Given the description of an element on the screen output the (x, y) to click on. 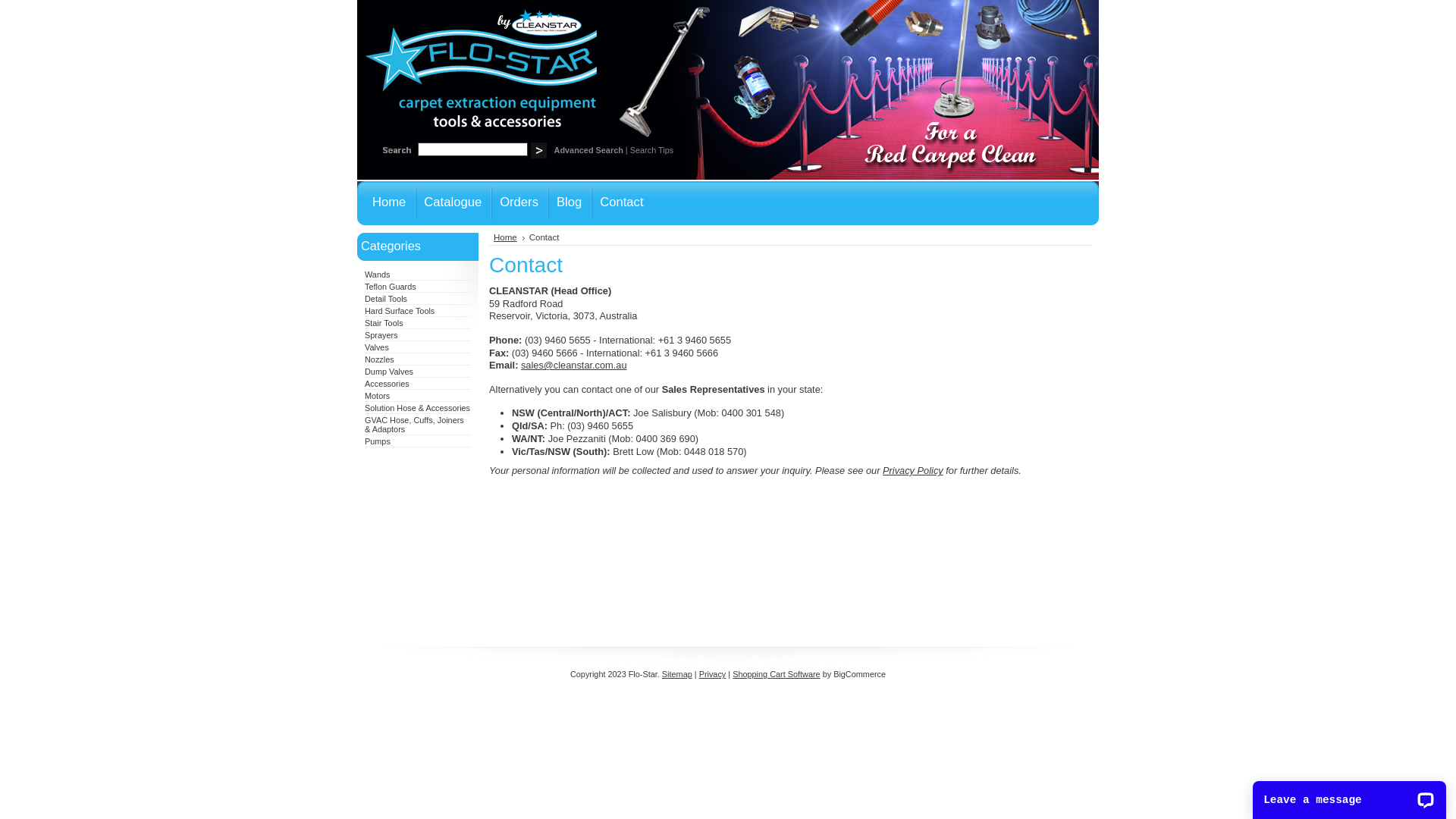
Privacy Policy Element type: text (912, 470)
Privacy Element type: text (712, 673)
Home Element type: text (508, 236)
GVAC Hose, Cuffs, Joiners & Adaptors Element type: text (414, 424)
Solution Hose & Accessories Element type: text (417, 407)
Motors Element type: text (376, 395)
Stair Tools Element type: text (383, 322)
Accessories Element type: text (386, 383)
Catalogue Element type: text (452, 203)
Blog Element type: text (568, 203)
Search Tips Element type: text (651, 149)
Advanced Search Element type: text (588, 149)
Detail Tools Element type: text (385, 298)
sales@cleanstar.com.au Element type: text (573, 364)
Sitemap Element type: text (677, 673)
Shopping Cart Software Element type: text (775, 673)
Valves Element type: text (376, 346)
Dump Valves Element type: text (388, 371)
Sprayers Element type: text (381, 334)
Home Element type: text (385, 203)
Pumps Element type: text (377, 440)
Orders Element type: text (518, 203)
Nozzles Element type: text (379, 359)
Wands Element type: text (376, 274)
Teflon Guards Element type: text (390, 286)
Hard Surface Tools Element type: text (399, 310)
Contact Element type: text (621, 203)
